Given the description of an element on the screen output the (x, y) to click on. 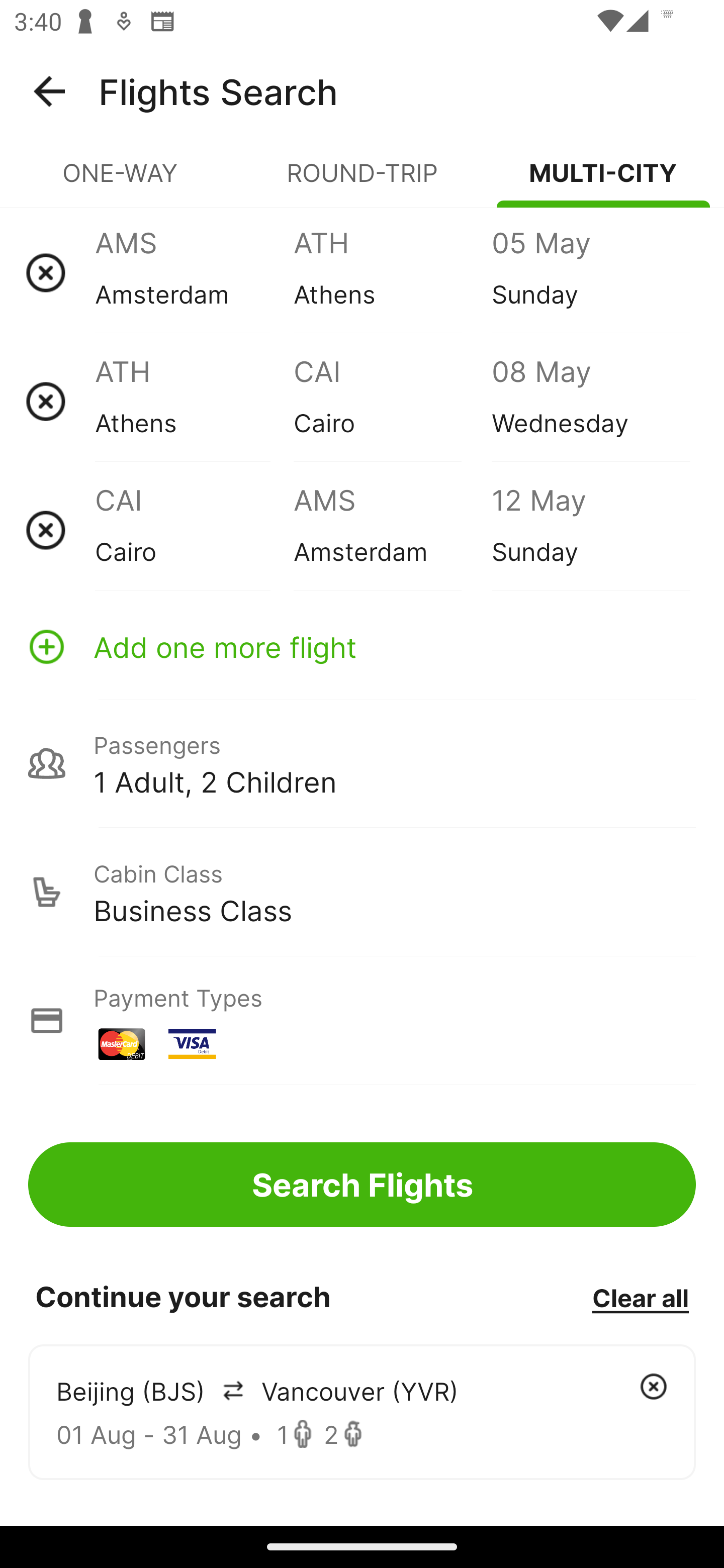
ONE-WAY (120, 180)
ROUND-TRIP (361, 180)
MULTI-CITY (603, 180)
AMS Amsterdam (193, 272)
ATH Athens (392, 272)
05 May Sunday (590, 272)
ATH Athens (193, 401)
CAI Cairo (392, 401)
08 May Wednesday (590, 401)
CAI Cairo (193, 529)
AMS Amsterdam (392, 529)
12 May Sunday (590, 529)
Add one more flight (362, 646)
Passengers 1 Adult, 2 Children (362, 762)
Cabin Class Business Class (362, 891)
Payment Types (362, 1020)
Search Flights (361, 1184)
Clear all (640, 1297)
